Given the description of an element on the screen output the (x, y) to click on. 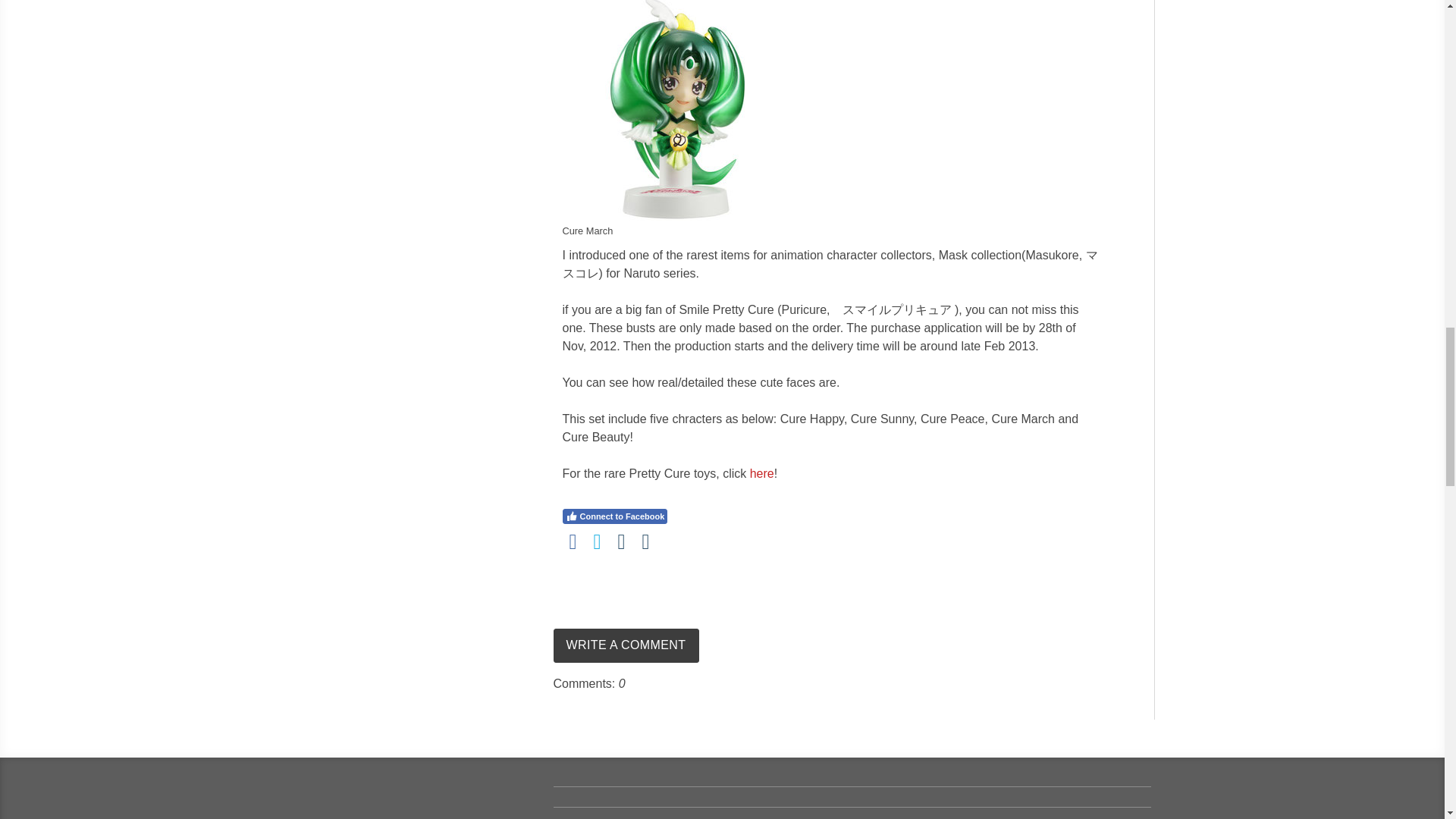
Email (621, 541)
Facebook (572, 541)
Tumblr (645, 541)
Twitter (597, 541)
